Given the description of an element on the screen output the (x, y) to click on. 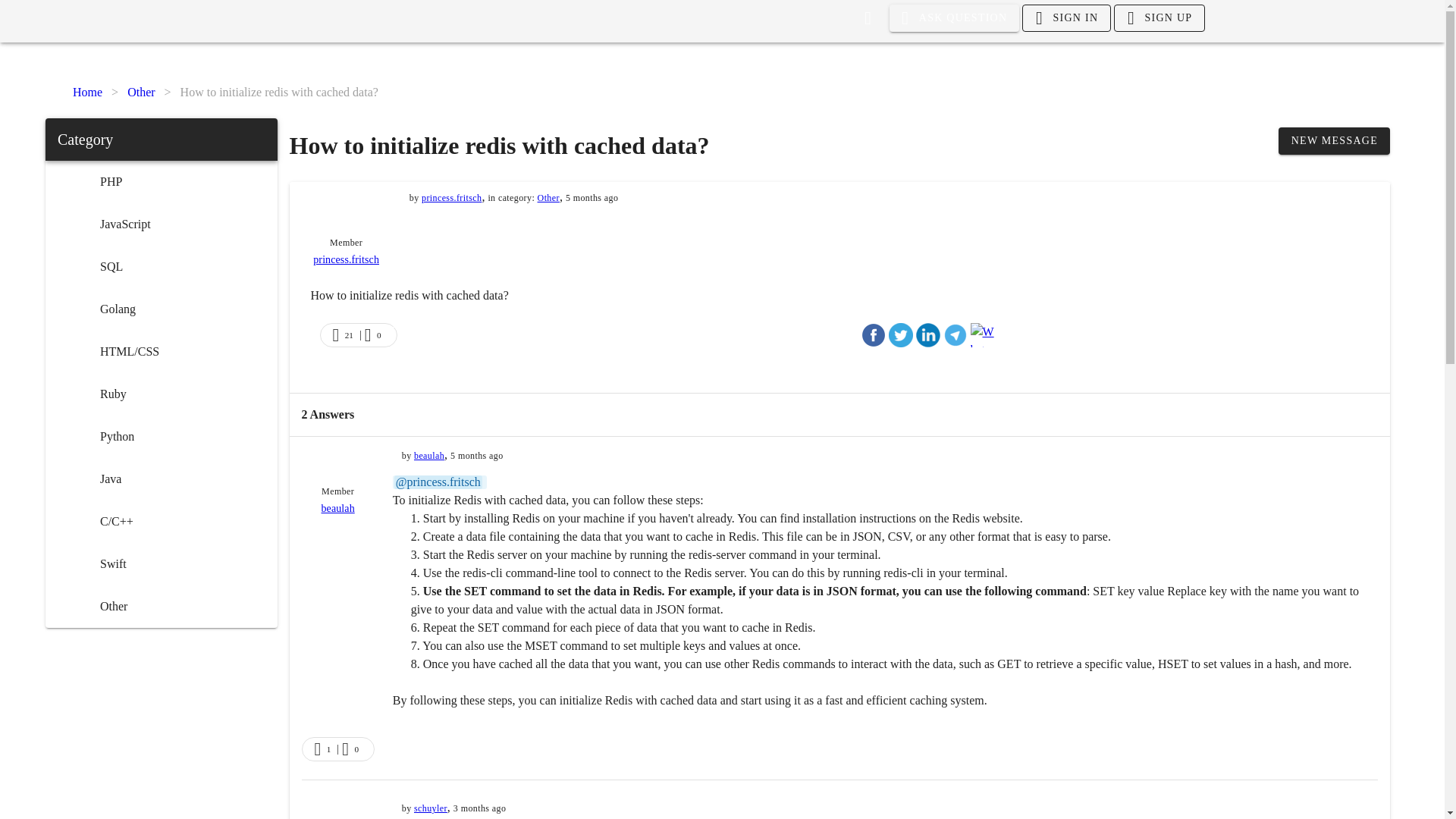
SQL (161, 266)
PHP (161, 181)
ASK QUESTION (954, 17)
LinkedIn (927, 334)
Other (161, 606)
Whatsapp (982, 334)
JavaScript (161, 224)
21 likes (349, 334)
Other (141, 92)
Python (161, 436)
